Given the description of an element on the screen output the (x, y) to click on. 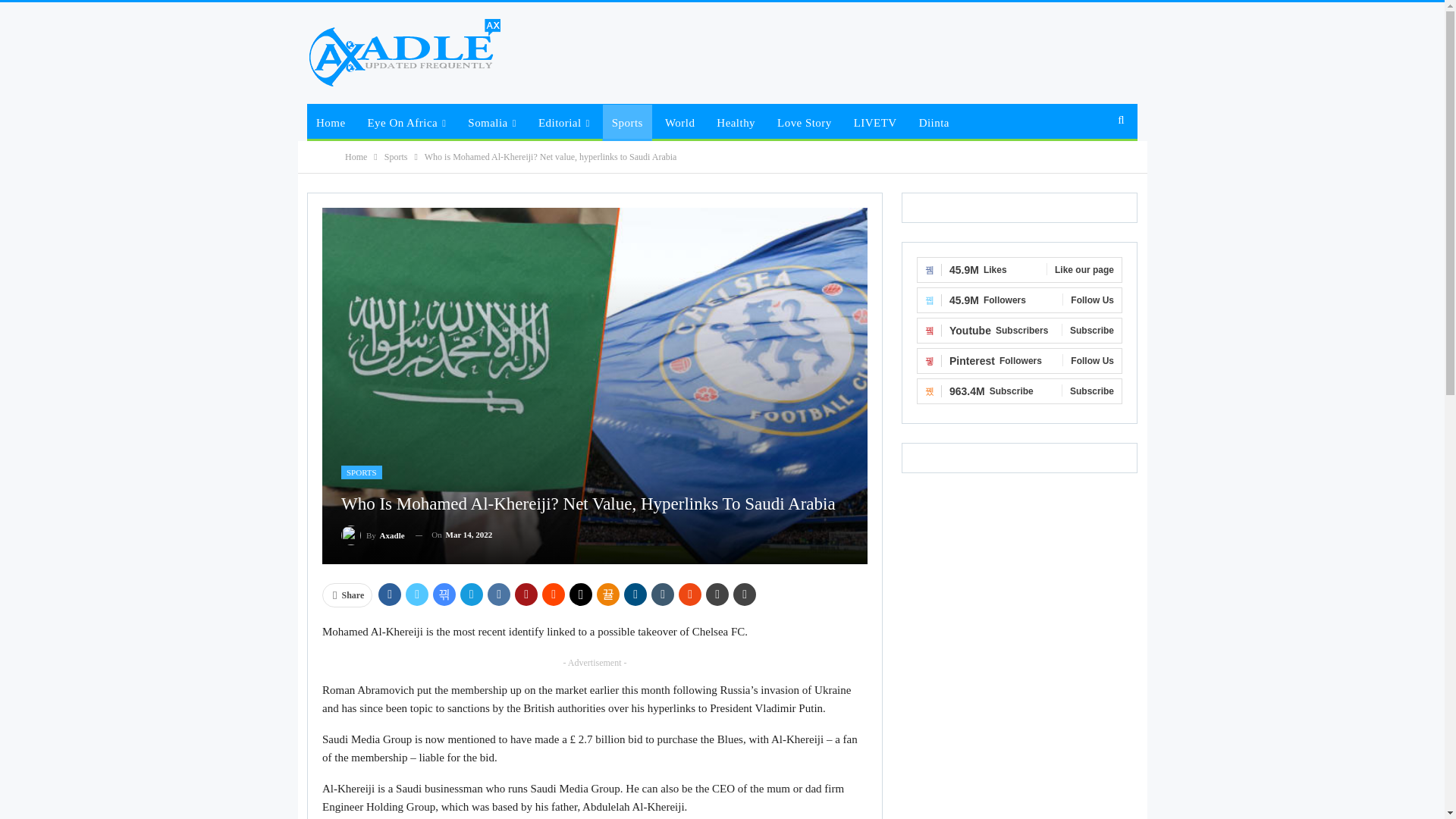
Eye On Africa (406, 122)
Editorial (563, 122)
World (679, 122)
Home (331, 122)
Healthy (735, 122)
Sports (627, 122)
Browse Author Articles (372, 534)
Somalia (491, 122)
